Given the description of an element on the screen output the (x, y) to click on. 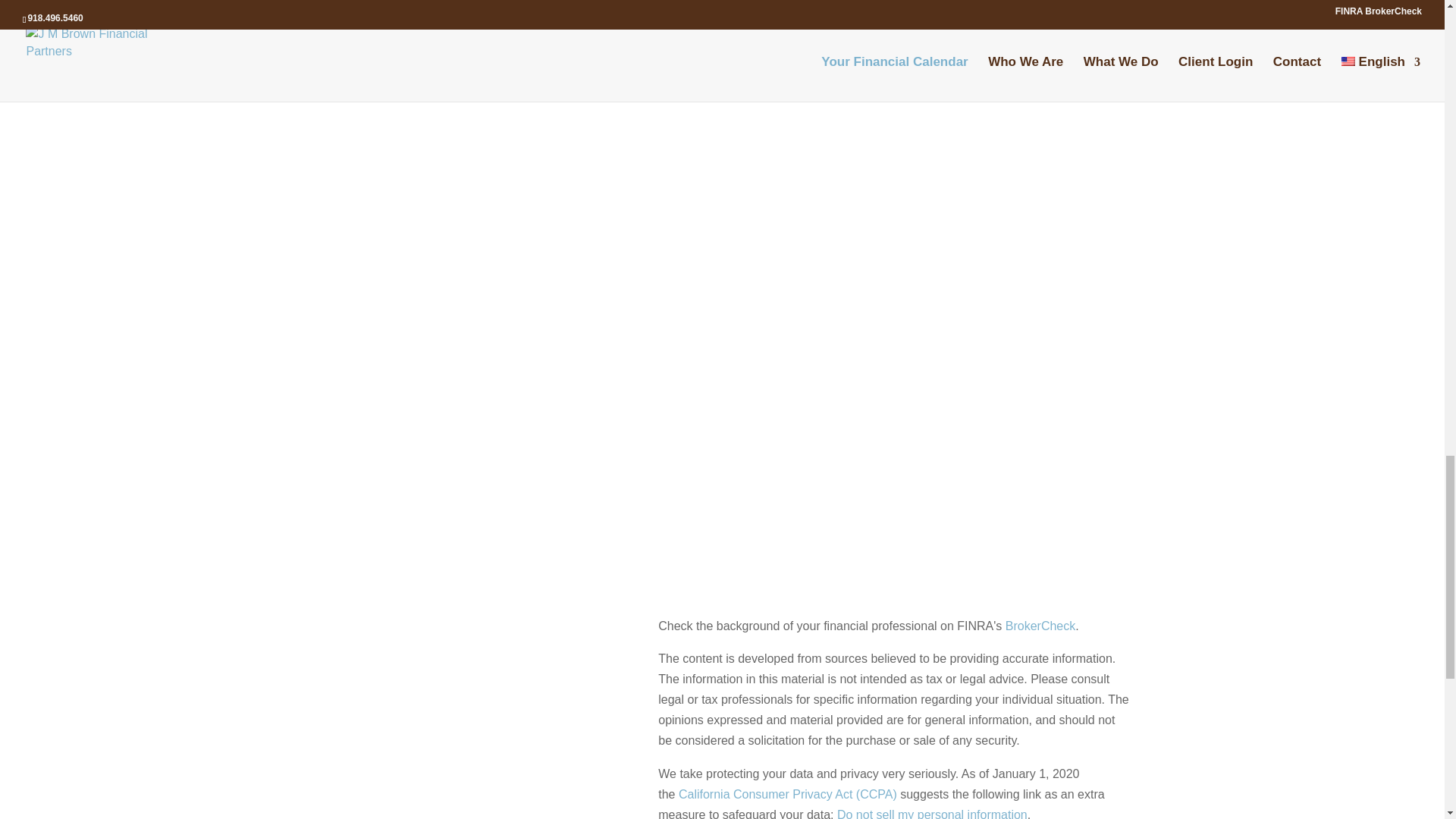
BrokerCheck (1040, 625)
Do not sell my personal information (932, 813)
